Given the description of an element on the screen output the (x, y) to click on. 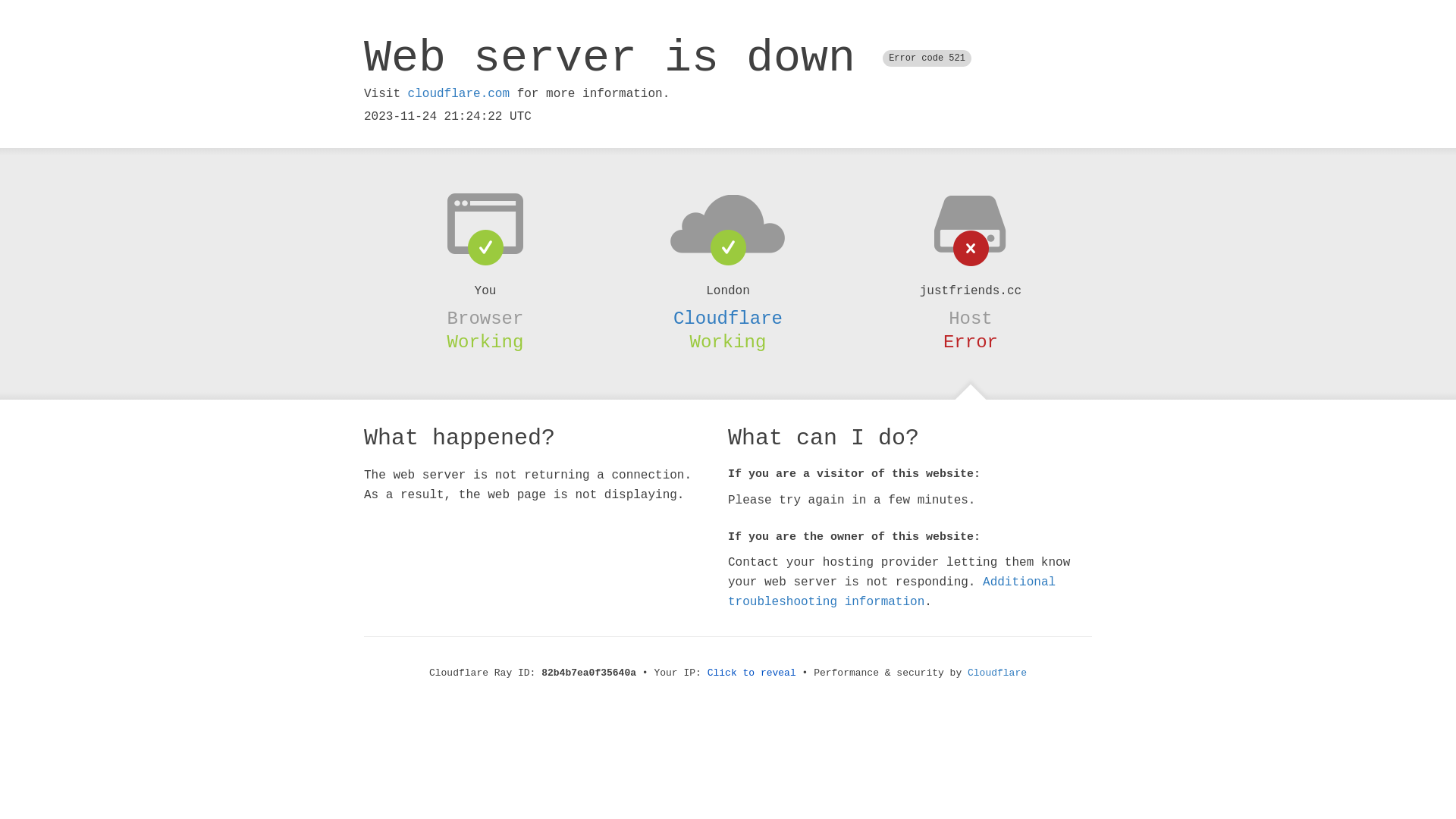
Cloudflare Element type: text (727, 318)
cloudflare.com Element type: text (458, 93)
Cloudflare Element type: text (996, 672)
Click to reveal Element type: text (751, 672)
Additional troubleshooting information Element type: text (891, 591)
